Given the description of an element on the screen output the (x, y) to click on. 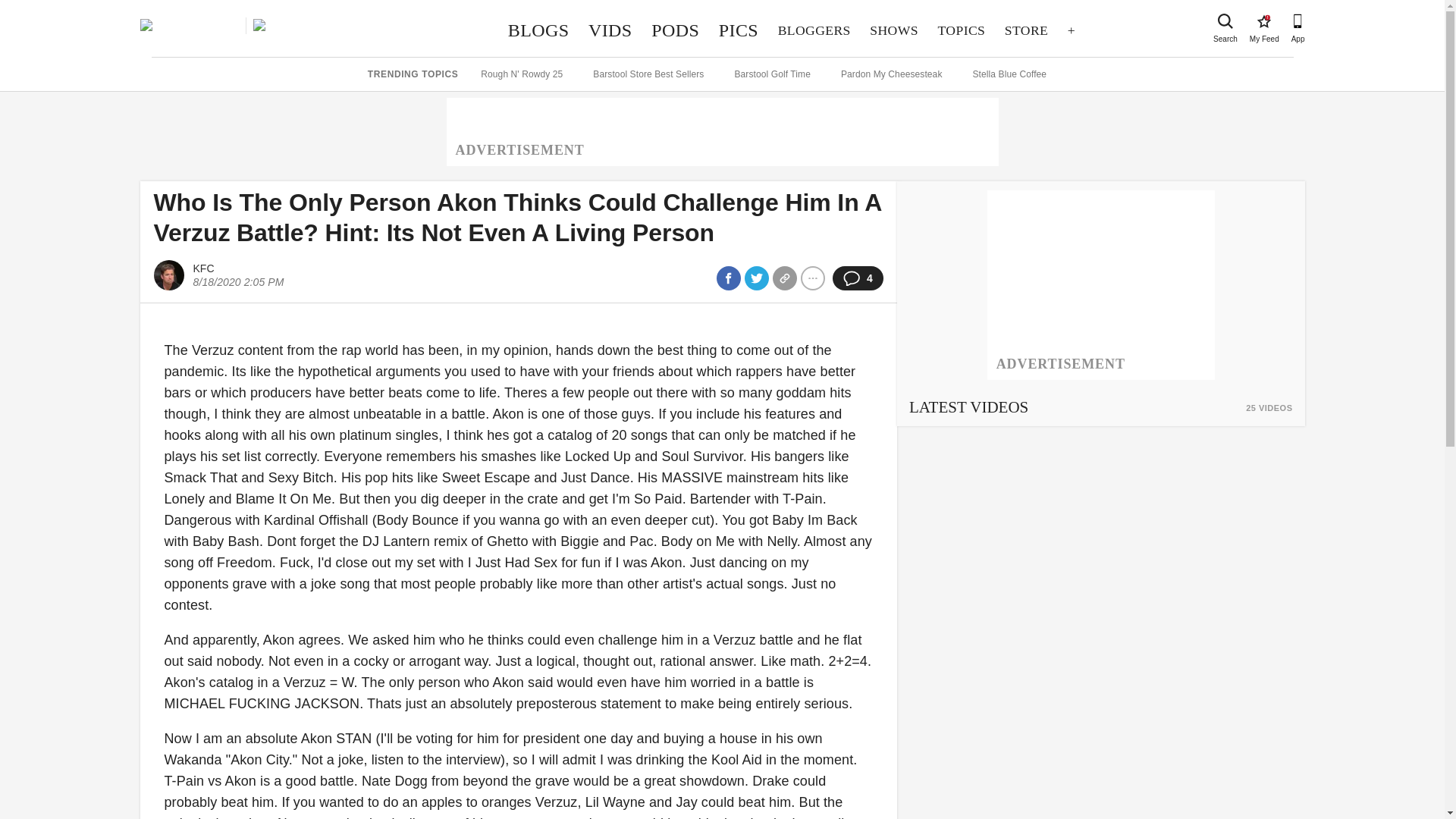
VIDS (610, 30)
SHOWS (894, 30)
Search (1225, 20)
PODS (1263, 20)
STORE (675, 30)
TOPICS (1026, 30)
BLOGS (961, 30)
PICS (537, 30)
BLOGGERS (738, 30)
